Given the description of an element on the screen output the (x, y) to click on. 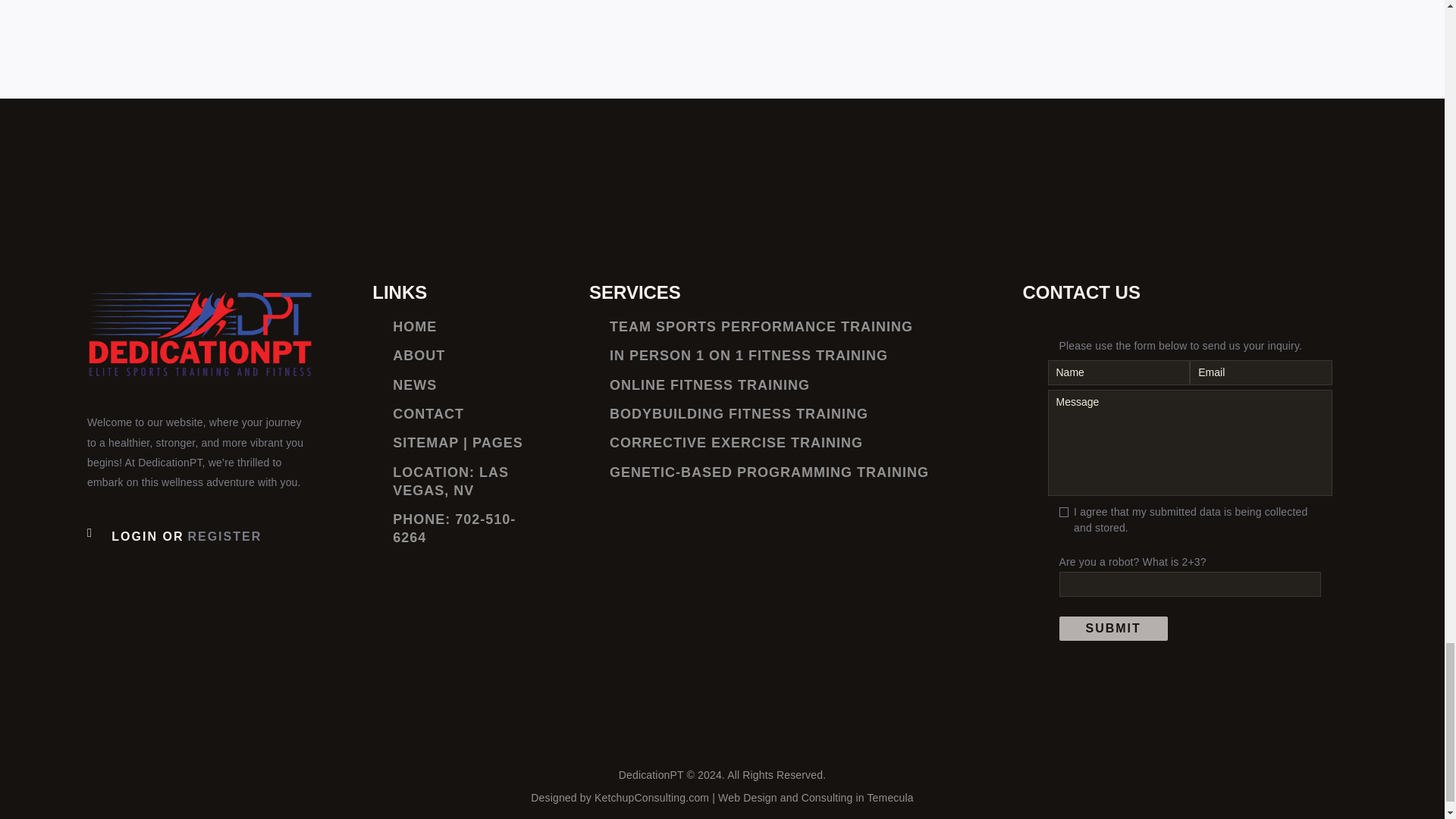
submit (1112, 628)
